Given the description of an element on the screen output the (x, y) to click on. 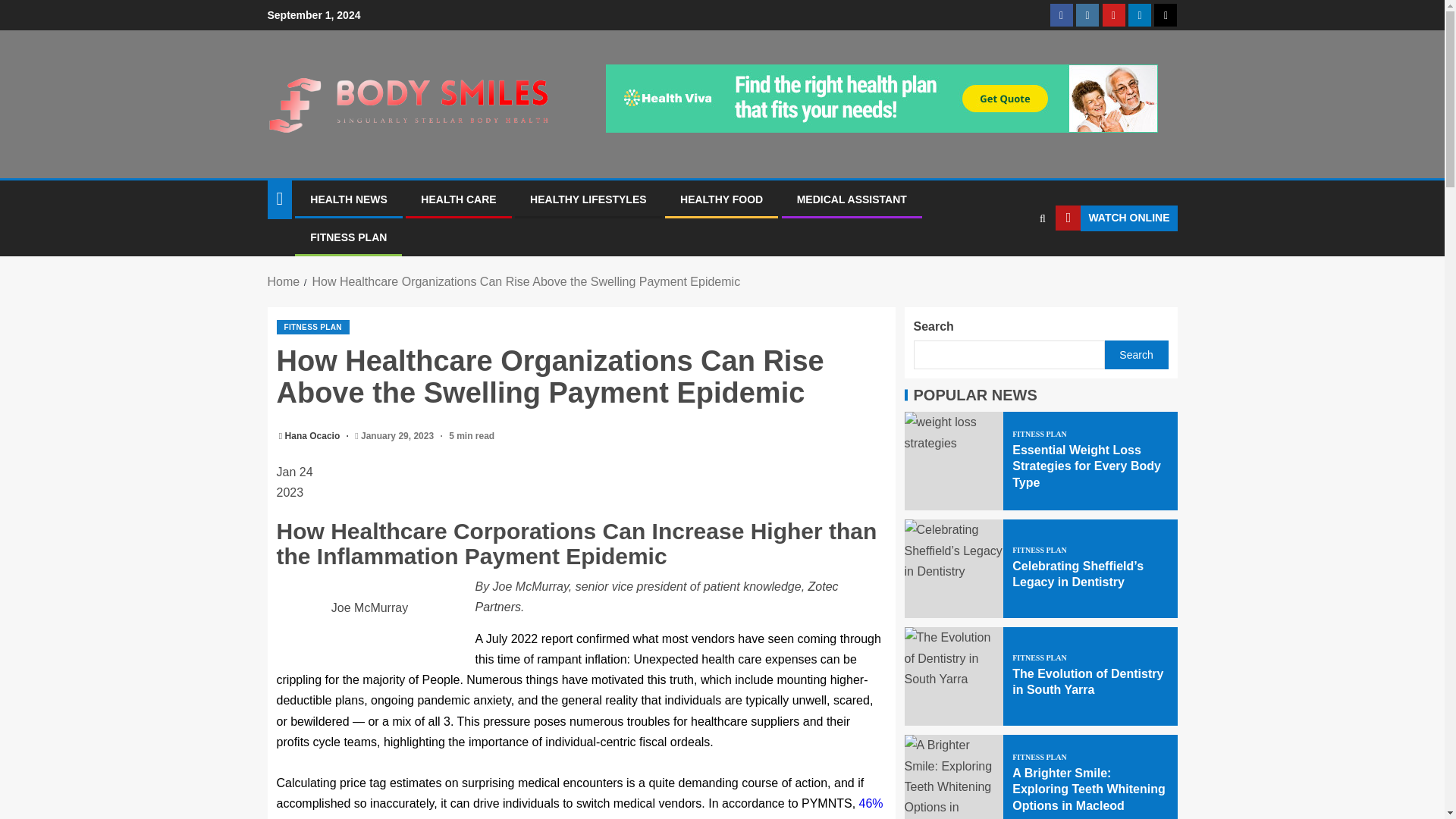
MEDICAL ASSISTANT (851, 199)
January 24, 2023 7:49 am (580, 481)
HEALTHY LIFESTYLES (587, 199)
Hana Ocacio (313, 435)
HEALTH NEWS (348, 199)
Zotec Partners (656, 596)
HEALTHY FOOD (720, 199)
Search (1013, 264)
